Given the description of an element on the screen output the (x, y) to click on. 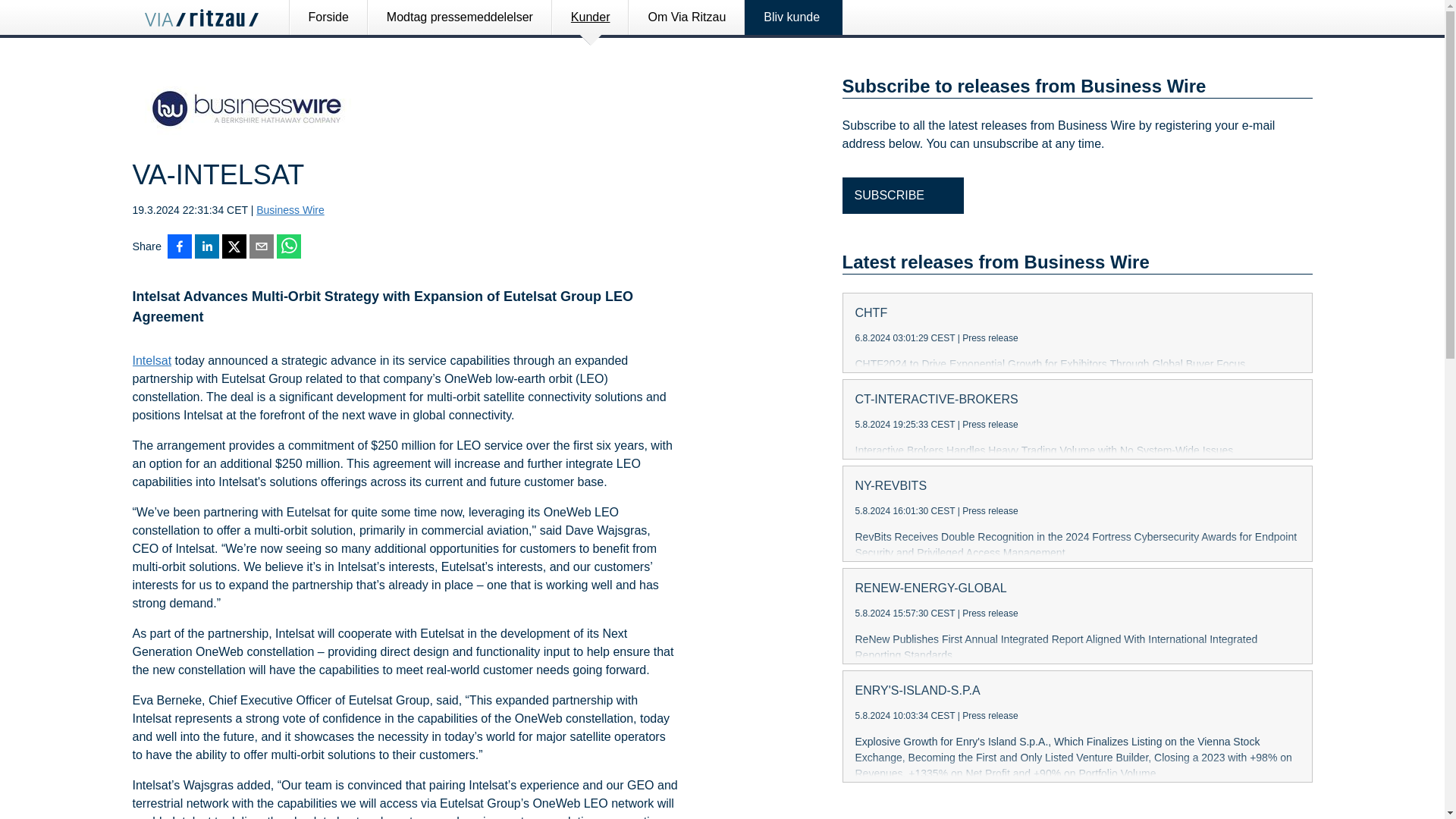
Om Via Ritzau (686, 17)
Business Wire (289, 209)
Forside (327, 17)
Intelsat (151, 361)
Modtag pressemeddelelser (459, 17)
Kunder (590, 17)
Bliv kunde (794, 17)
SUBSCRIBE (901, 195)
